Given the description of an element on the screen output the (x, y) to click on. 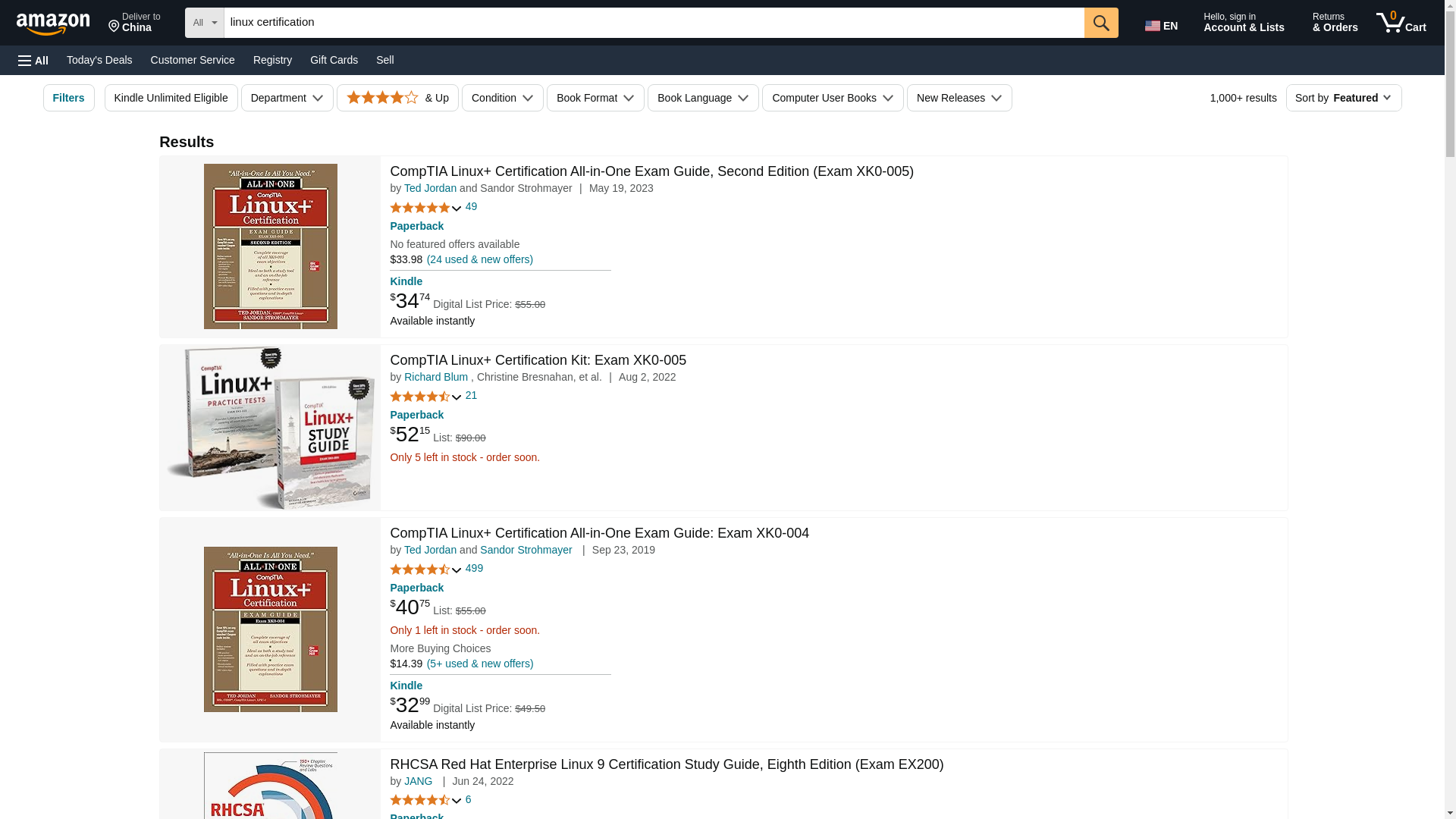
Go (1101, 22)
Today's Deals (99, 59)
linux certification (654, 22)
Sell (384, 59)
Registry (272, 59)
Gift Cards (333, 59)
Customer Service (192, 59)
Skip to main content (1401, 22)
